Given the description of an element on the screen output the (x, y) to click on. 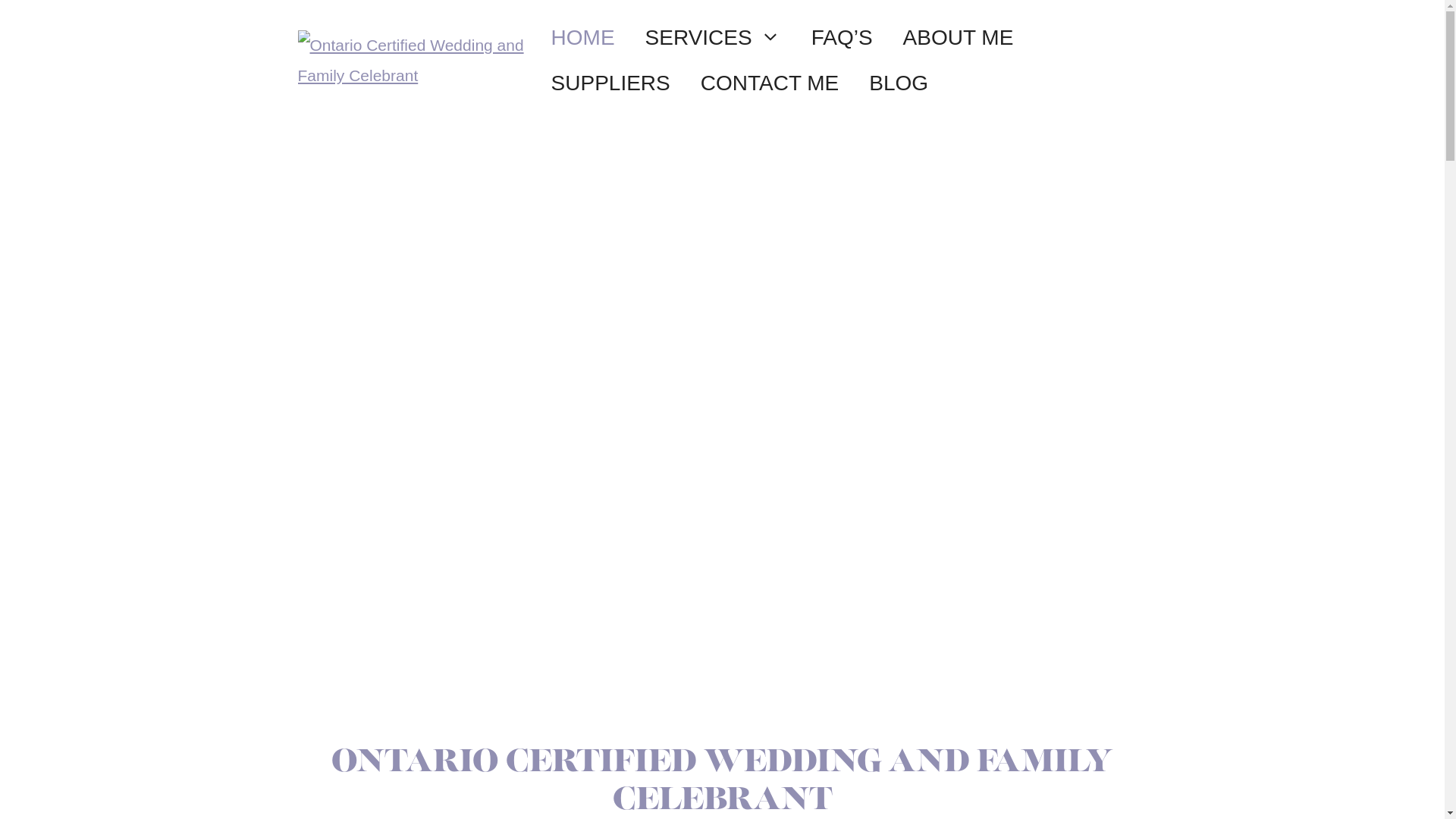
HOME Element type: text (583, 37)
CONTACT ME Element type: text (769, 83)
BLOG Element type: text (898, 83)
ABOUT ME Element type: text (958, 37)
SUPPLIERS Element type: text (610, 83)
SERVICES Element type: text (713, 37)
